Given the description of an element on the screen output the (x, y) to click on. 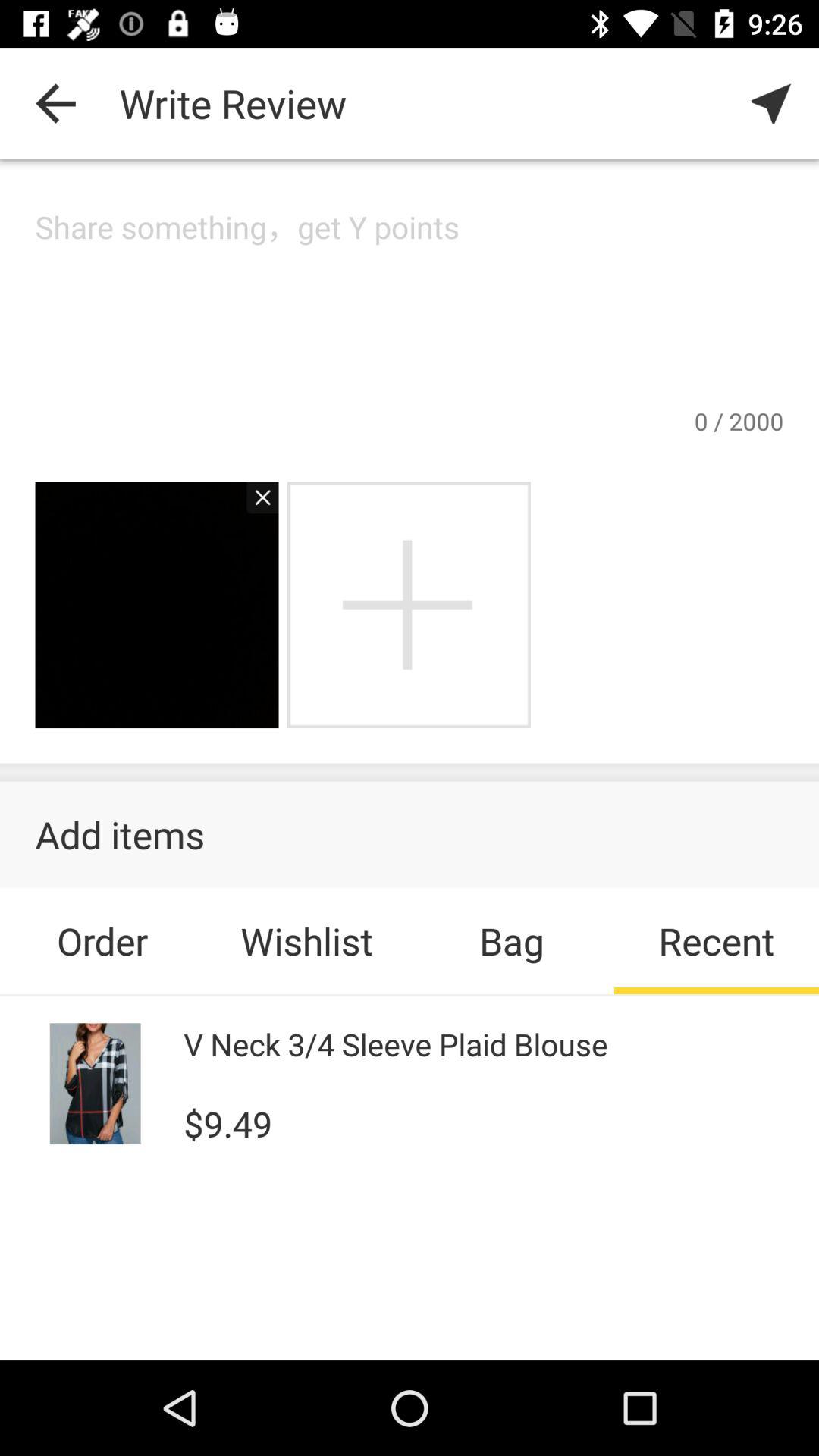
turn on app next to the write review (771, 103)
